Given the description of an element on the screen output the (x, y) to click on. 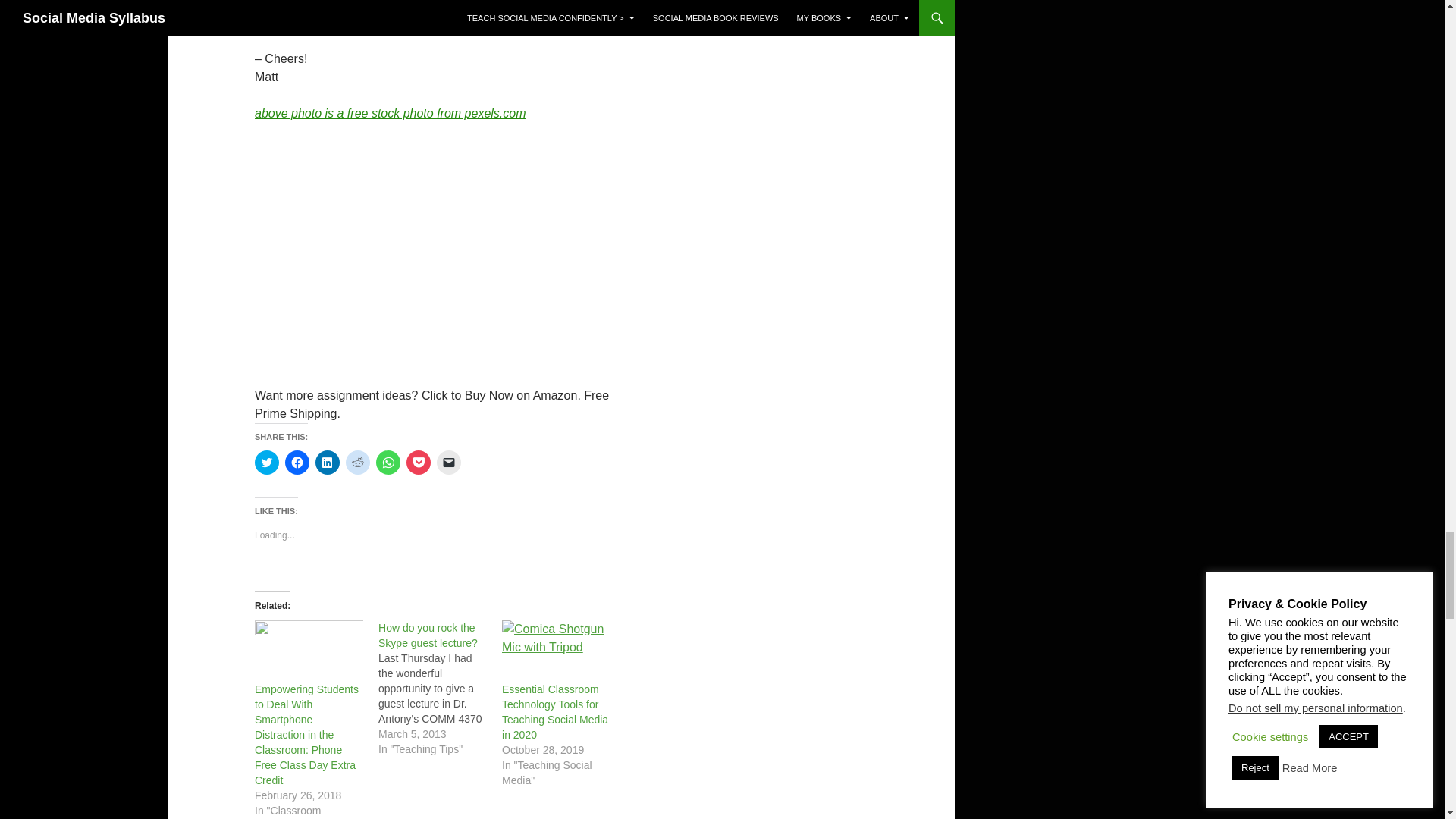
Click to share on Twitter (266, 462)
Click to share on WhatsApp (387, 462)
Click to share on Pocket (418, 462)
How do you rock the Skype guest lecture? (427, 635)
How do you rock the Skype guest lecture? (440, 687)
Click to share on Facebook (296, 462)
Click to email a link to a friend (448, 462)
Click to share on Reddit (357, 462)
Click to share on LinkedIn (327, 462)
